Given the description of an element on the screen output the (x, y) to click on. 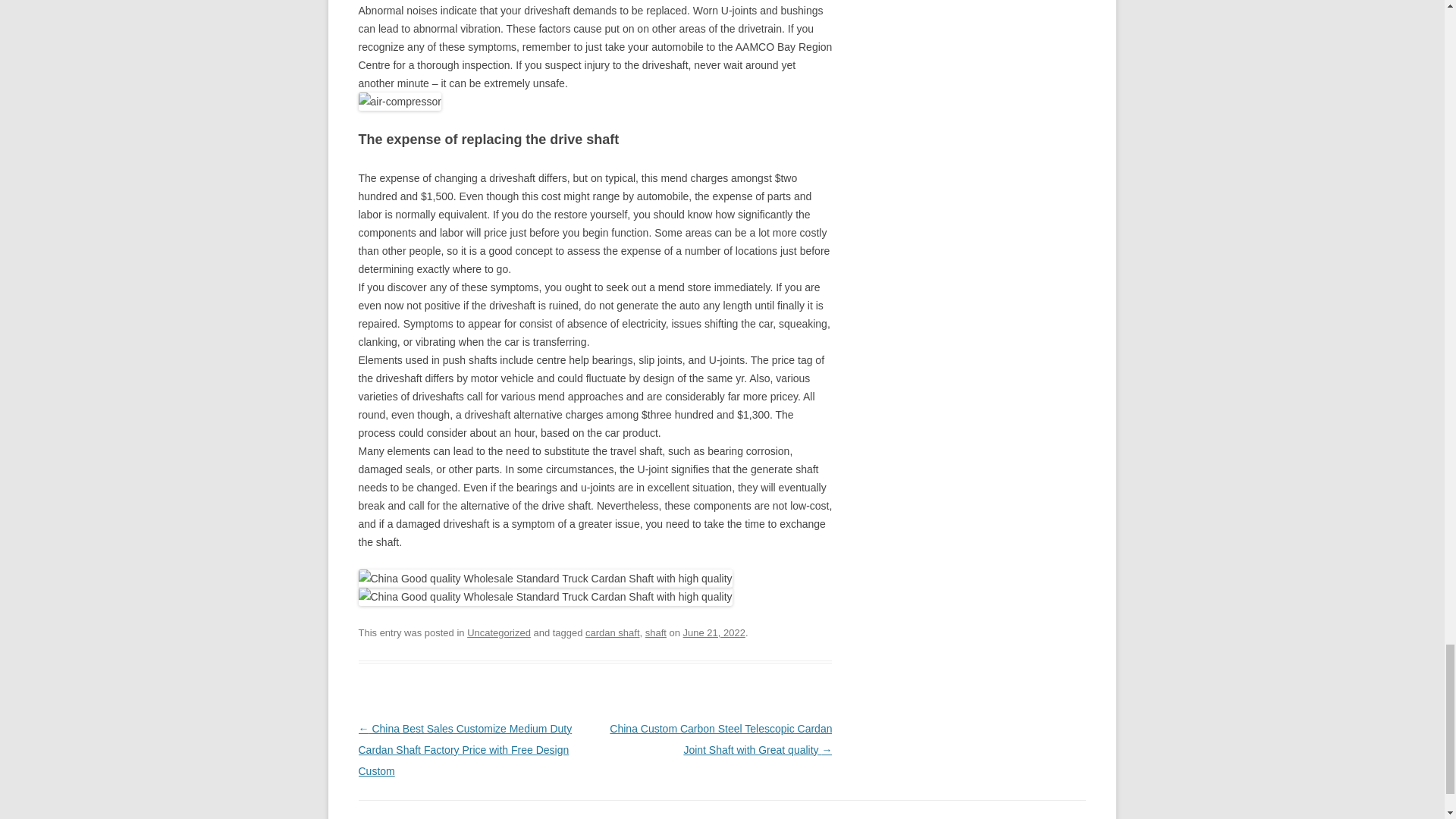
6:58 pm (713, 632)
cardan shaft (612, 632)
June 21, 2022 (713, 632)
shaft (655, 632)
Uncategorized (499, 632)
